Given the description of an element on the screen output the (x, y) to click on. 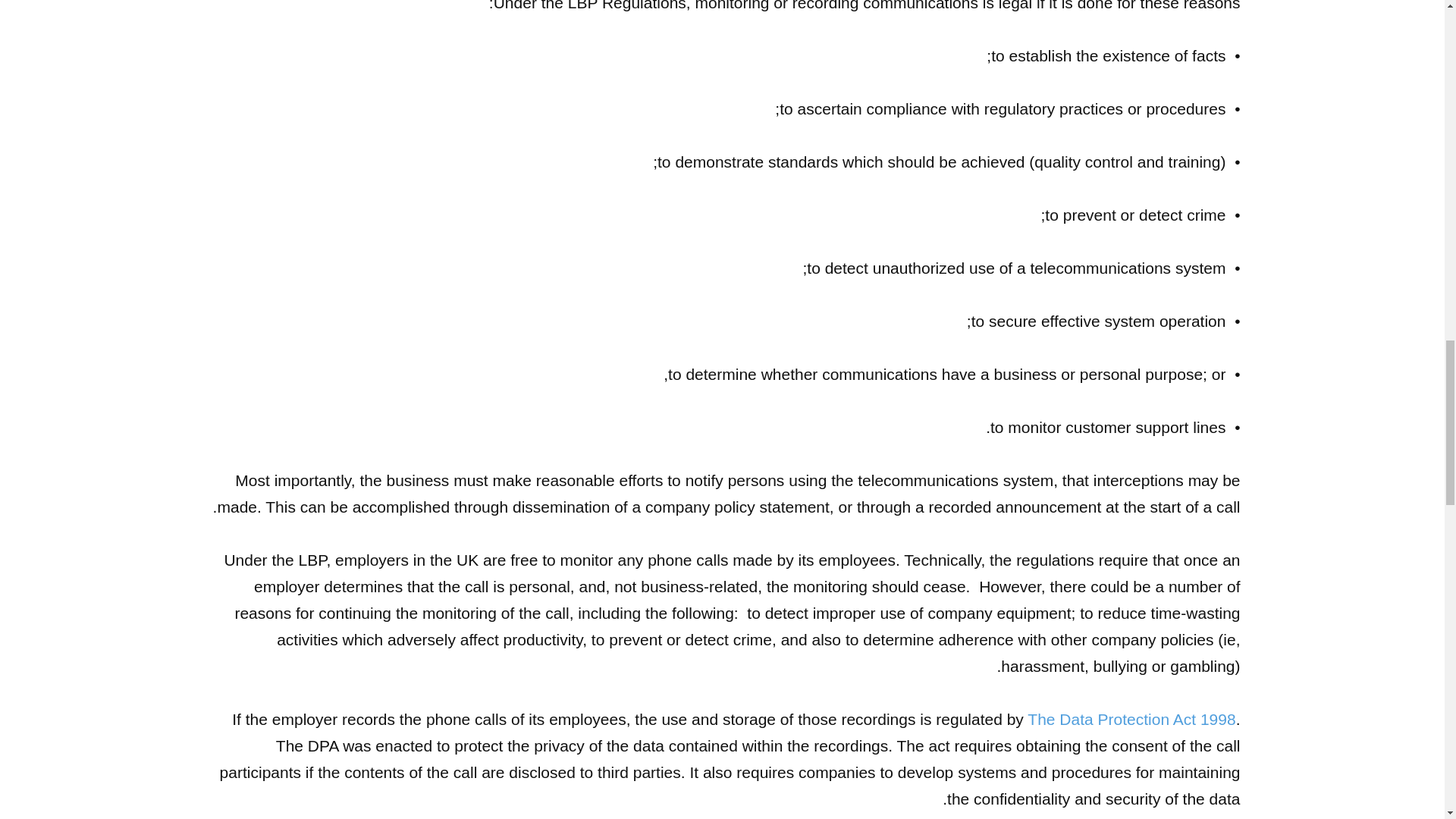
The Data Protection Act 1998 (1130, 719)
